Given the description of an element on the screen output the (x, y) to click on. 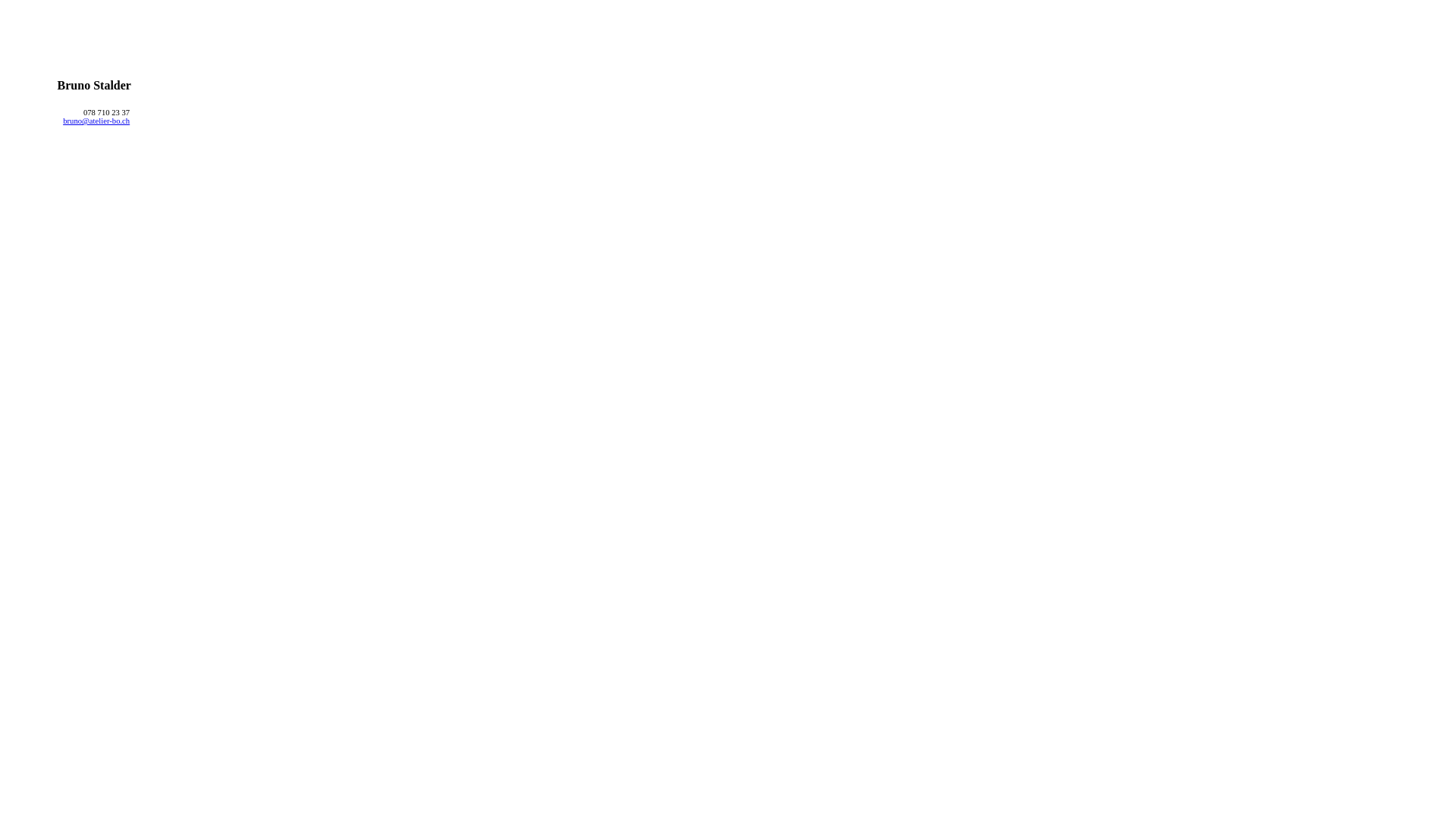
bruno@atelier-bo.ch Element type: text (95, 120)
